Given the description of an element on the screen output the (x, y) to click on. 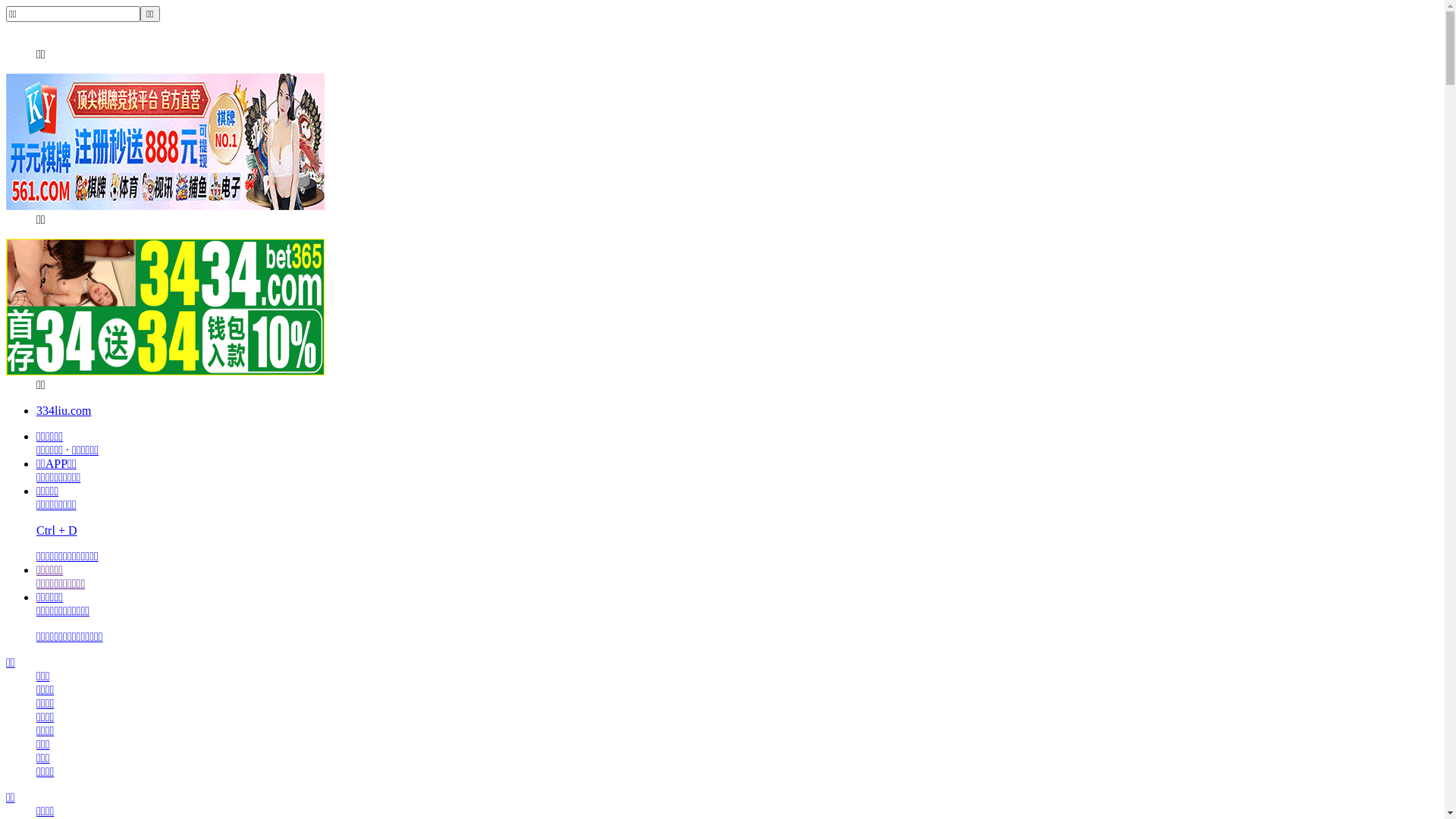
334liu.com Element type: text (63, 410)
